Given the description of an element on the screen output the (x, y) to click on. 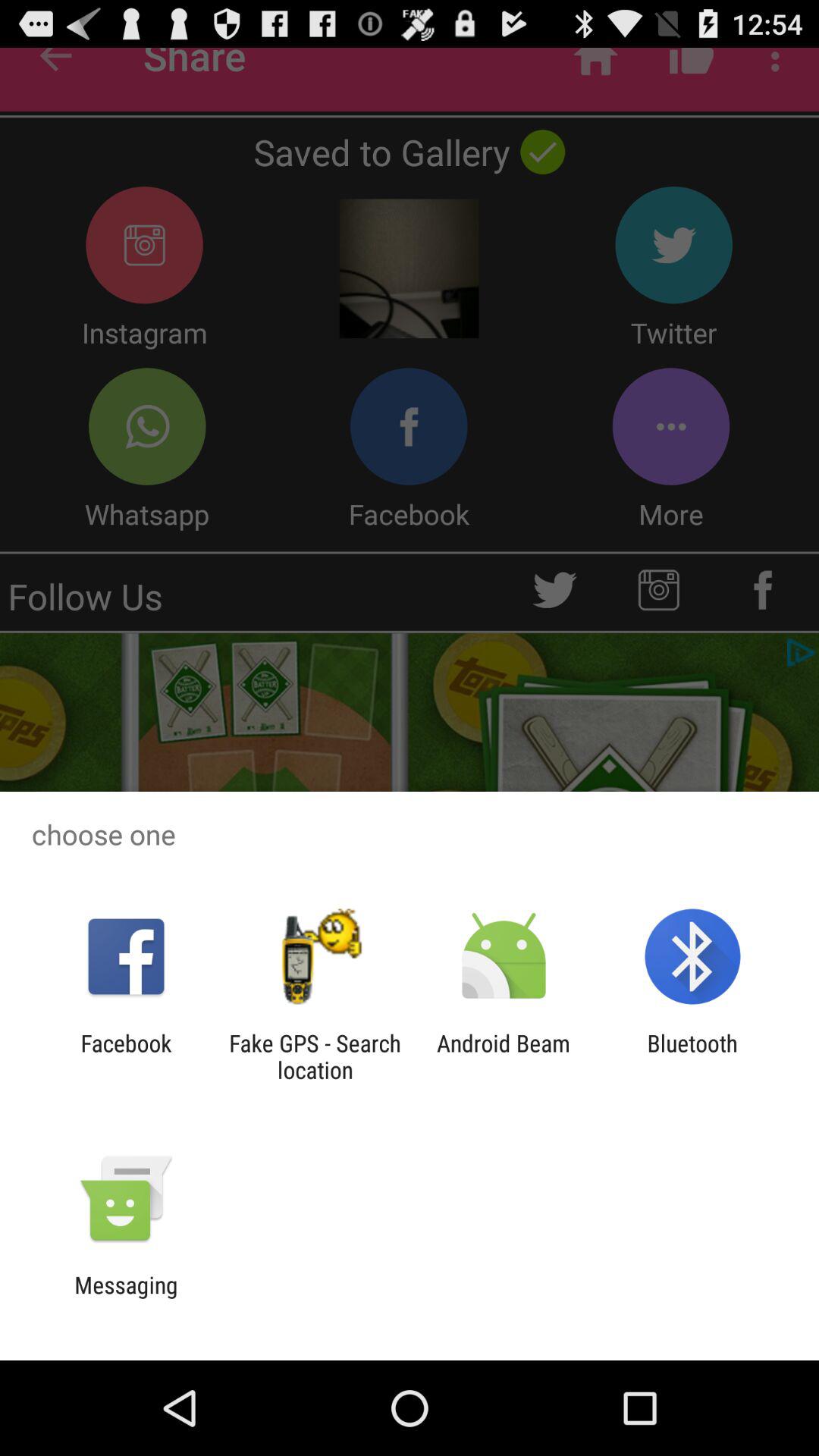
scroll until facebook item (125, 1056)
